Given the description of an element on the screen output the (x, y) to click on. 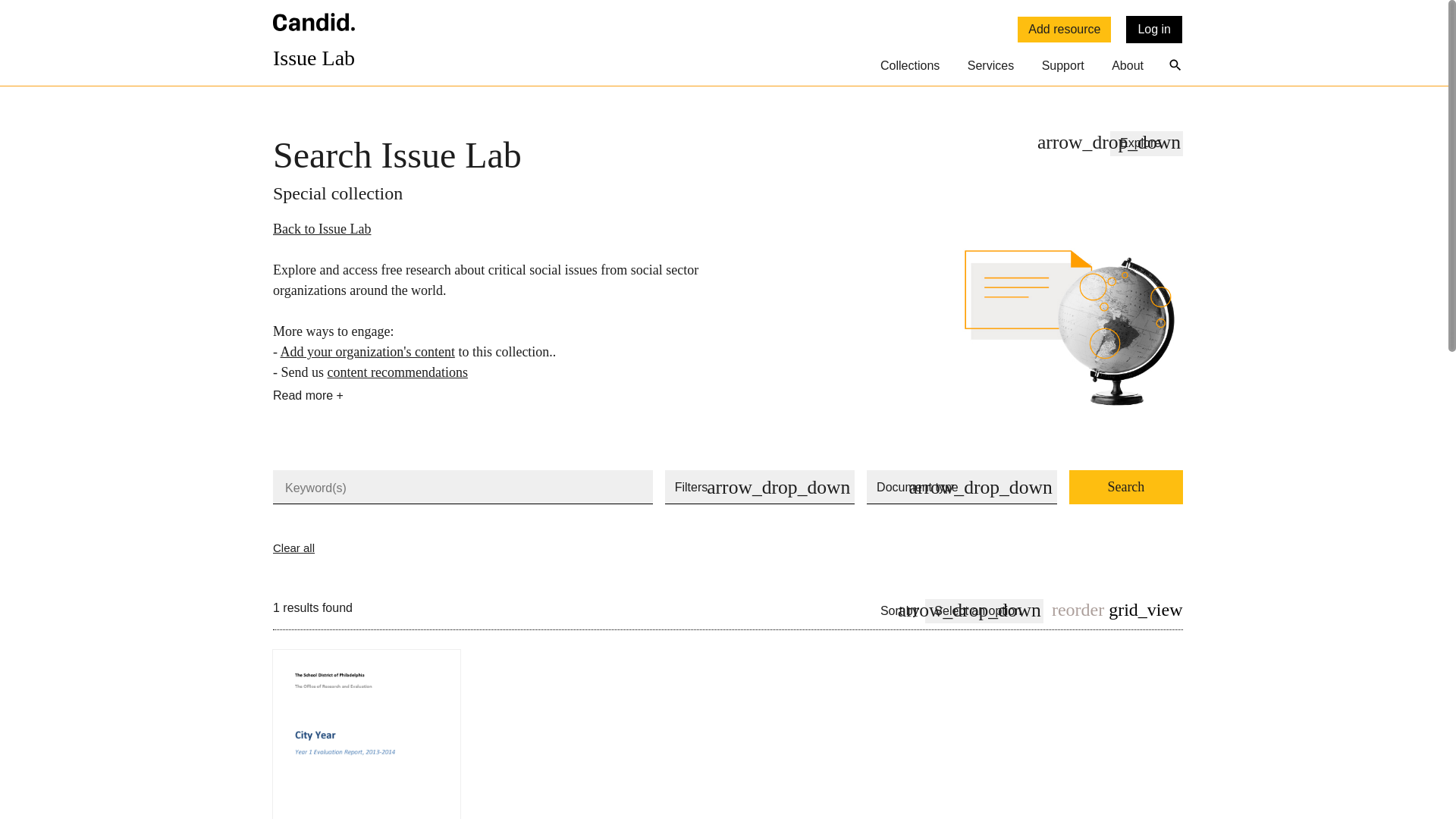
Explore (1145, 143)
Search (1125, 487)
Search (1125, 487)
About (1127, 68)
Support (1063, 68)
Back to Issue Lab (322, 228)
Document type (961, 487)
Services (990, 68)
content recommendations (397, 372)
Issue Lab (314, 49)
Add your organization's content (367, 351)
Filters (759, 487)
Log in (1153, 29)
Collections (909, 68)
Add resource (1063, 29)
